Given the description of an element on the screen output the (x, y) to click on. 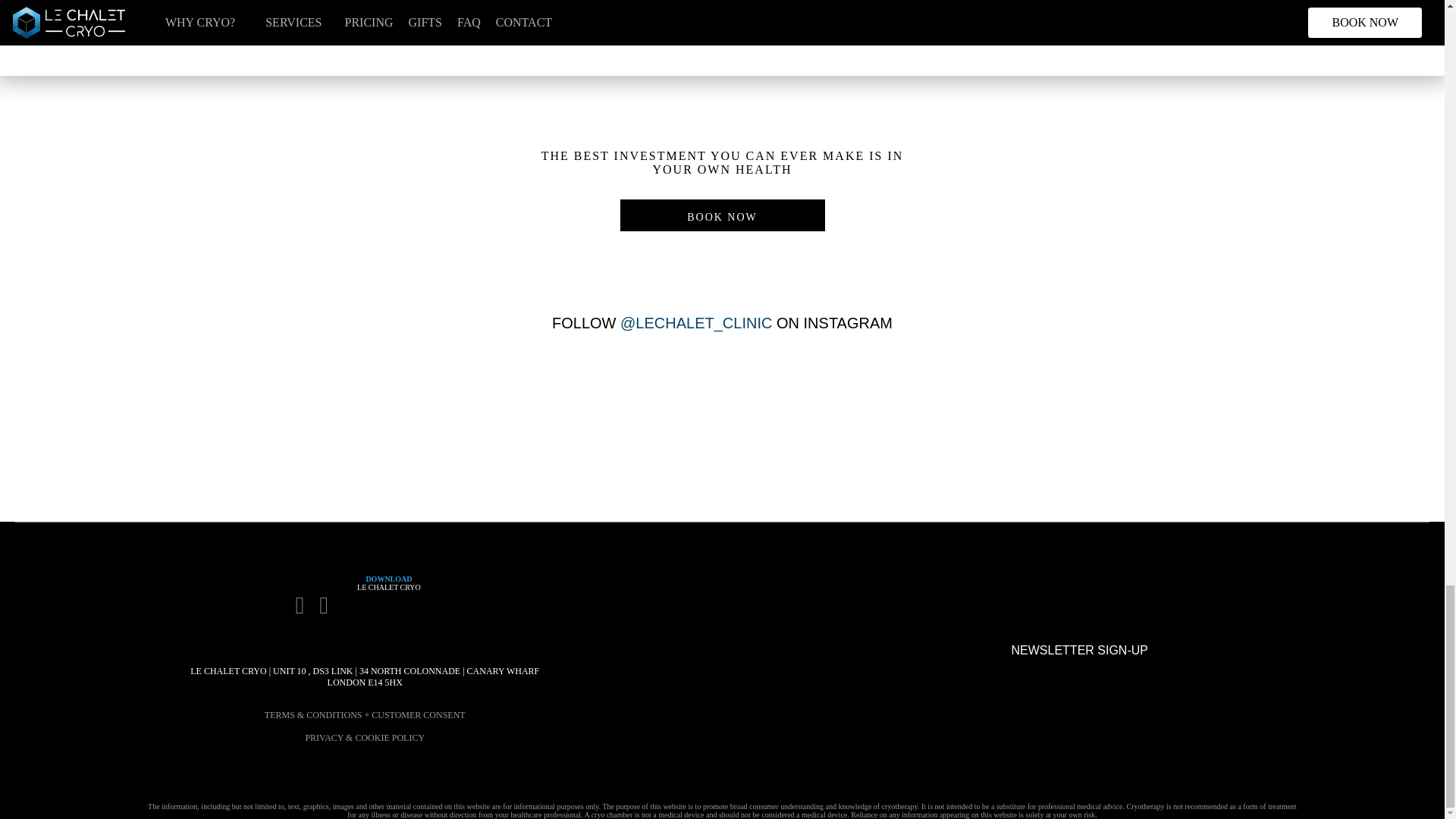
BEAUTY (240, 67)
WEIGHT MANAGEMENT (721, 67)
BOOK NOW (722, 214)
